Given the description of an element on the screen output the (x, y) to click on. 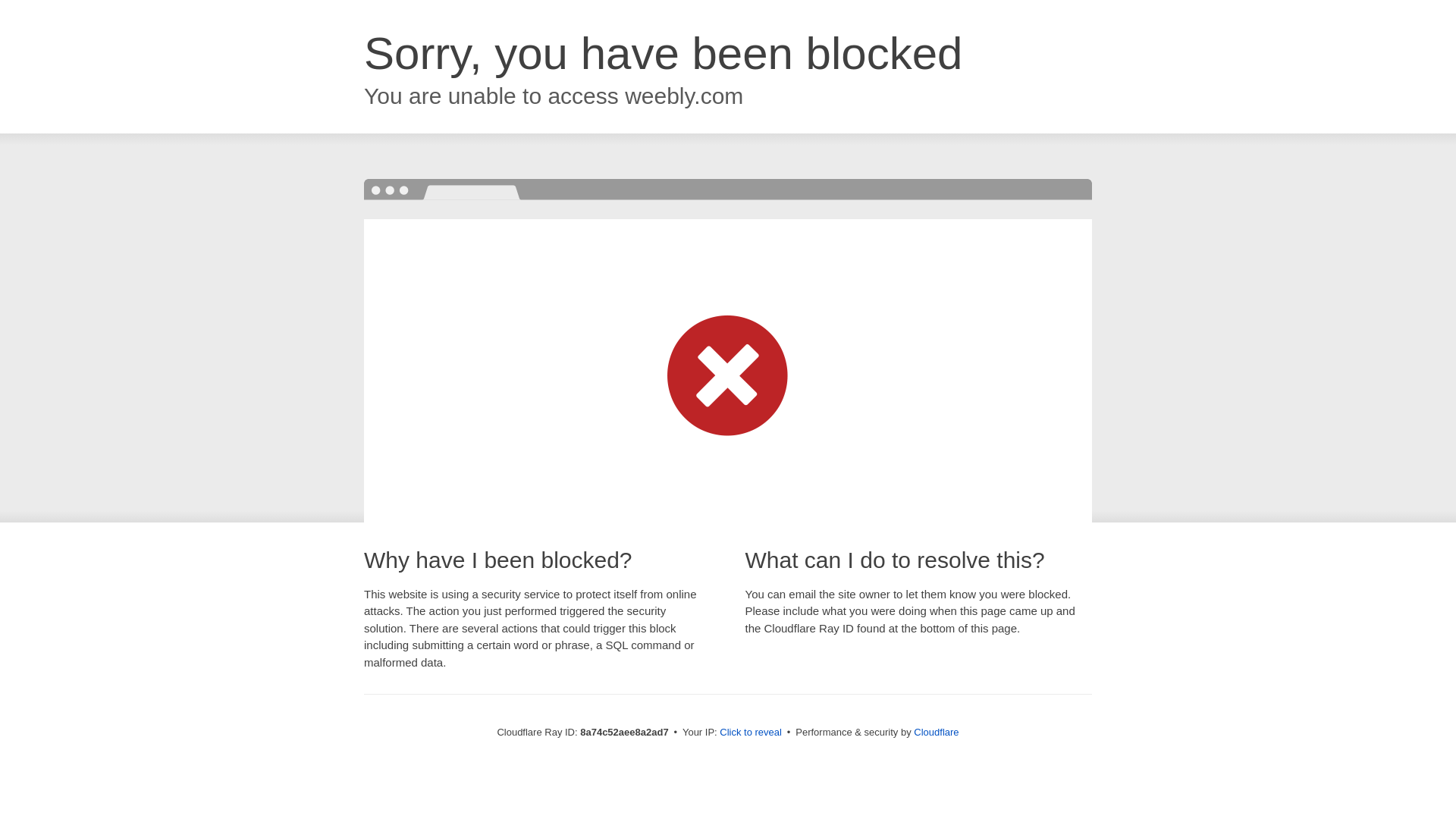
Cloudflare (936, 731)
Click to reveal (750, 732)
